Given the description of an element on the screen output the (x, y) to click on. 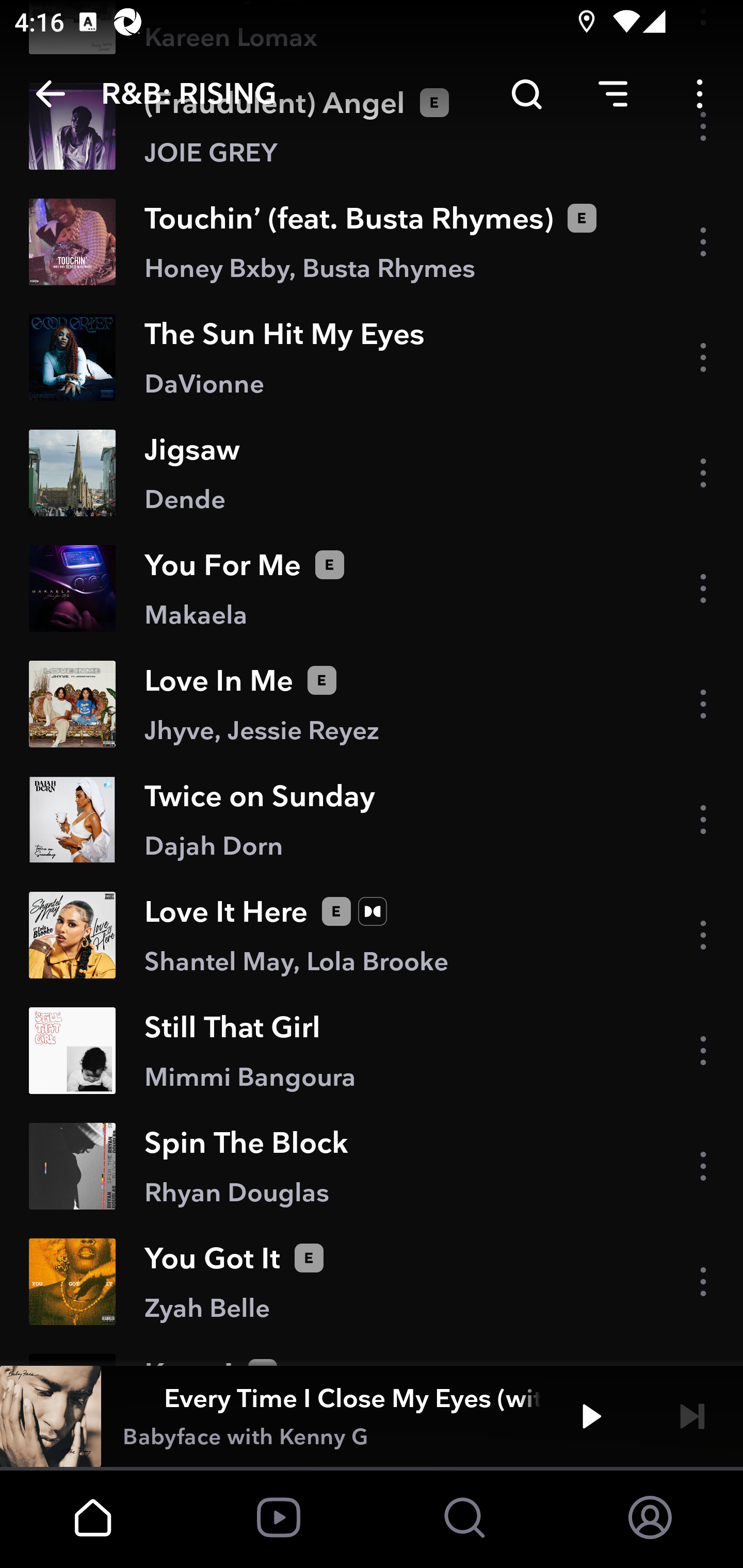
Back (50, 93)
Search (525, 93)
Sorting (612, 93)
Options (699, 93)
(Fraudulent) Angel JOIE GREY (371, 125)
The Sun Hit My Eyes DaVionne (371, 357)
Jigsaw Dende (371, 472)
You For Me Makaela (371, 587)
Love In Me Jhyve, Jessie Reyez (371, 704)
Twice on Sunday Dajah Dorn (371, 820)
Love It Here Shantel May, Lola Brooke (371, 935)
Still That Girl Mimmi Bangoura (371, 1050)
Spin The Block Rhyan Douglas (371, 1166)
You Got It Zyah Belle (371, 1281)
Play (590, 1416)
